Given the description of an element on the screen output the (x, y) to click on. 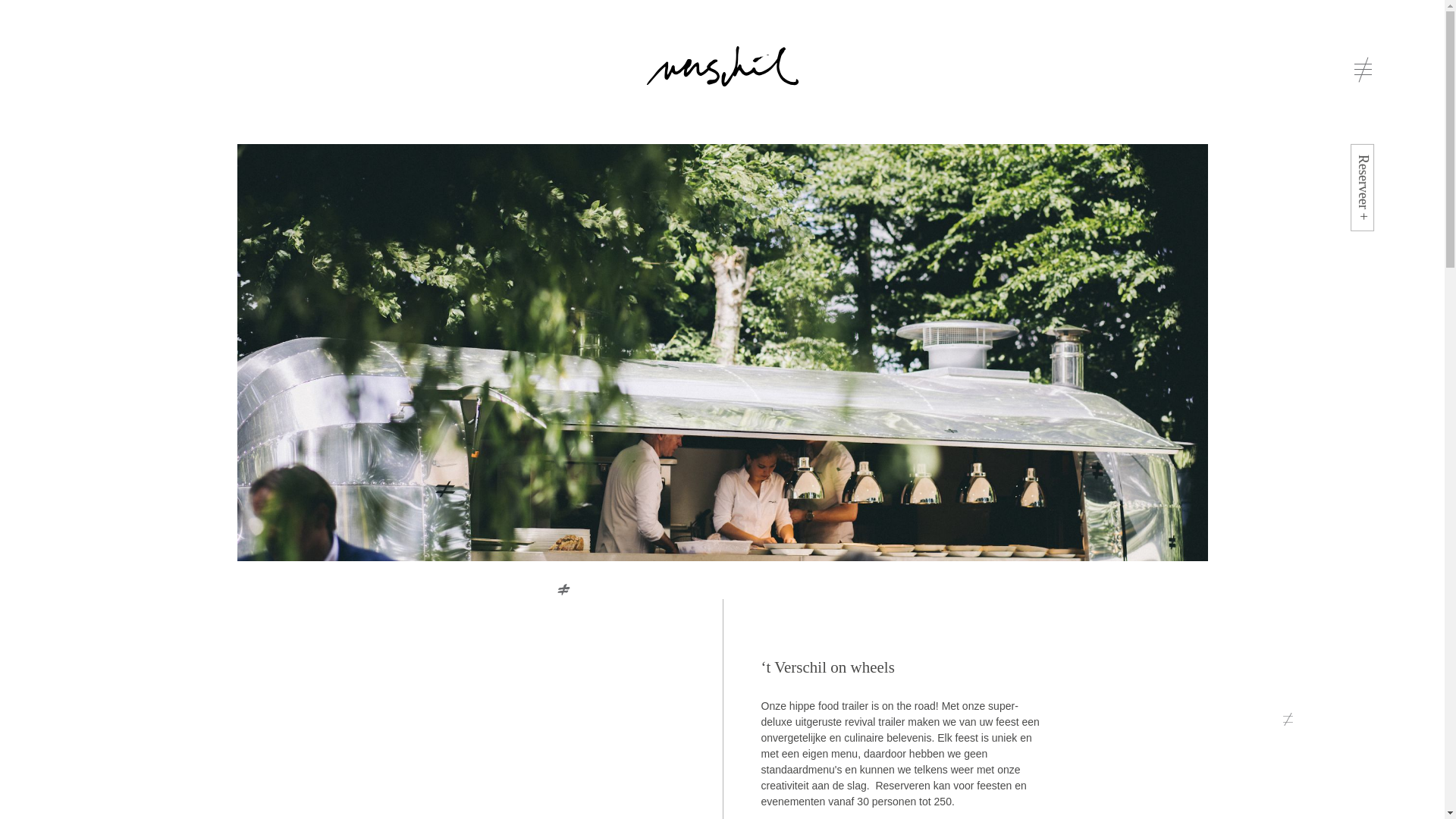
VERSCHIL  Element type: text (721, 66)
Reserveer + Element type: text (1394, 155)
Toggle navigation Element type: text (1362, 68)
